Given the description of an element on the screen output the (x, y) to click on. 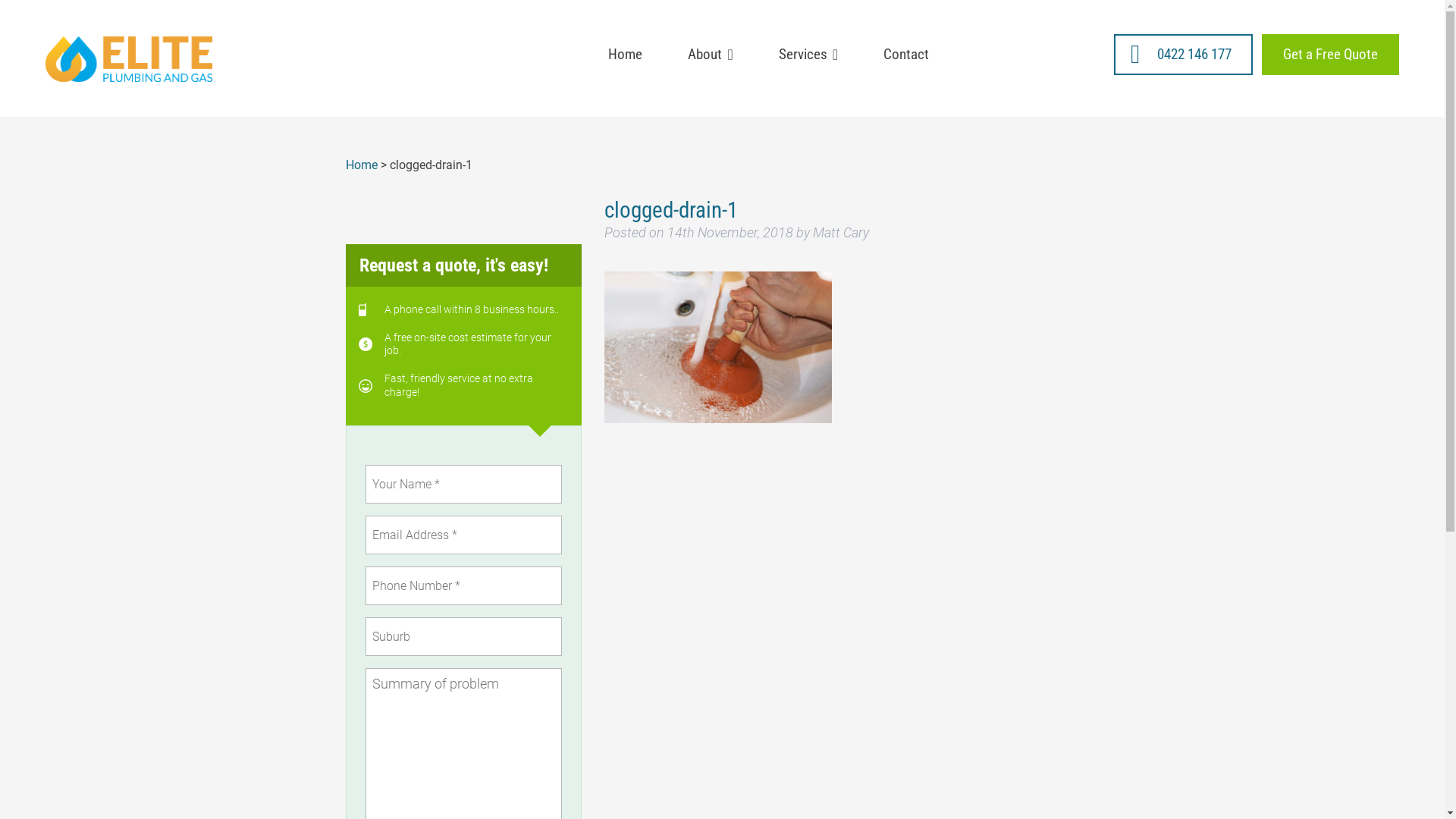
About Element type: text (710, 54)
Services Element type: text (808, 54)
0422 146 177 Element type: text (1182, 54)
Home Element type: text (625, 54)
Home Element type: text (361, 164)
Contact Element type: text (905, 54)
Get a Free Quote Element type: text (1330, 54)
